Given the description of an element on the screen output the (x, y) to click on. 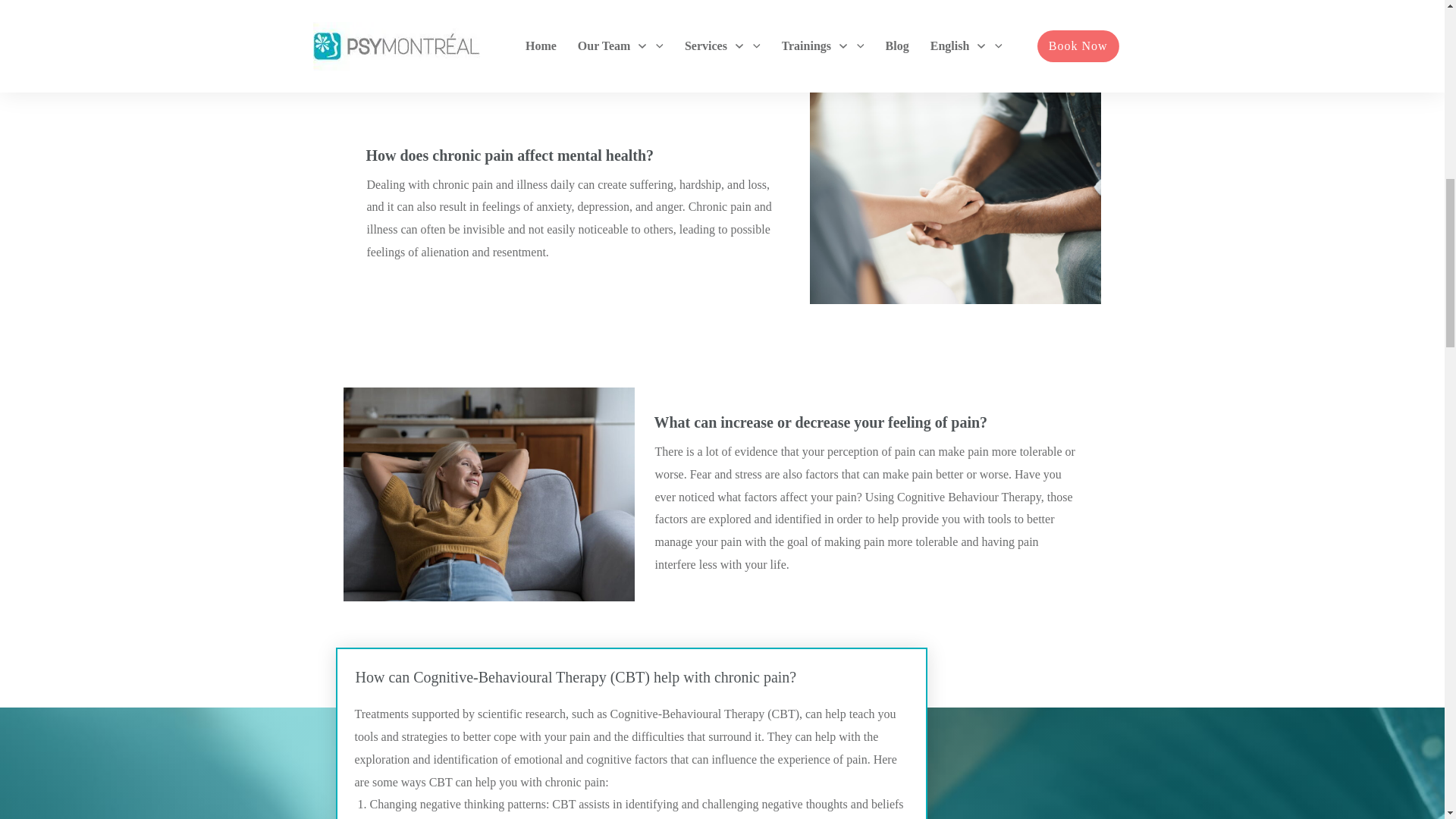
GettyImages-1431432811 (473, 11)
GettyImages-1407879123 (473, 494)
GettyImages-1327123869 (939, 196)
